Given the description of an element on the screen output the (x, y) to click on. 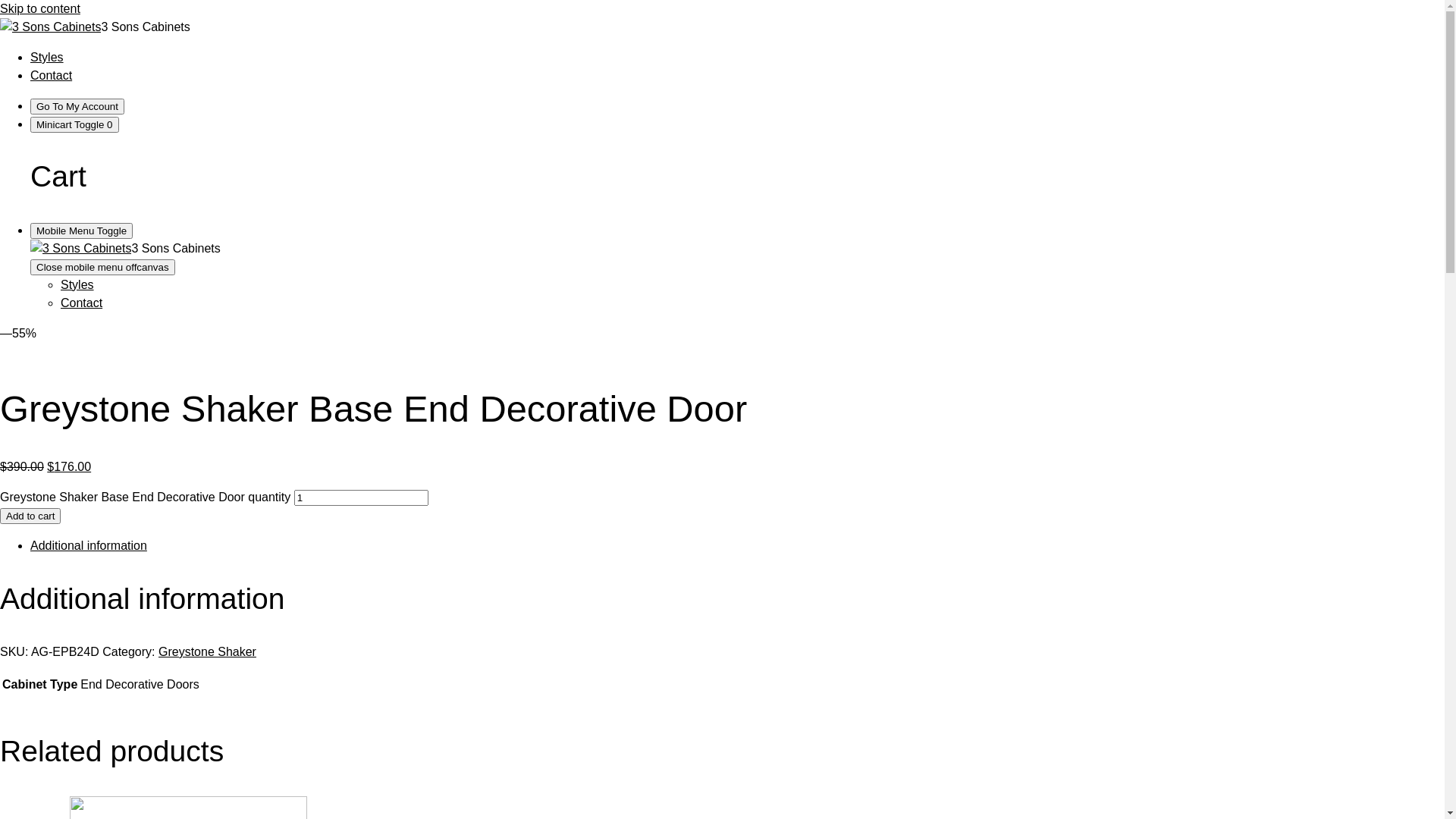
Greystone Shaker Element type: text (207, 651)
Go To My Account Element type: text (77, 105)
Minicart Toggle 0 Element type: text (74, 124)
Mobile Menu Toggle Element type: text (81, 230)
Additional information Element type: text (88, 545)
Add to cart Element type: text (30, 516)
Close mobile menu offcanvas Element type: text (102, 267)
Skip to content Element type: text (40, 8)
Go To My Account Element type: text (77, 106)
Styles Element type: text (46, 56)
Contact Element type: text (51, 75)
Contact Element type: text (81, 302)
Styles Element type: text (77, 284)
